Given the description of an element on the screen output the (x, y) to click on. 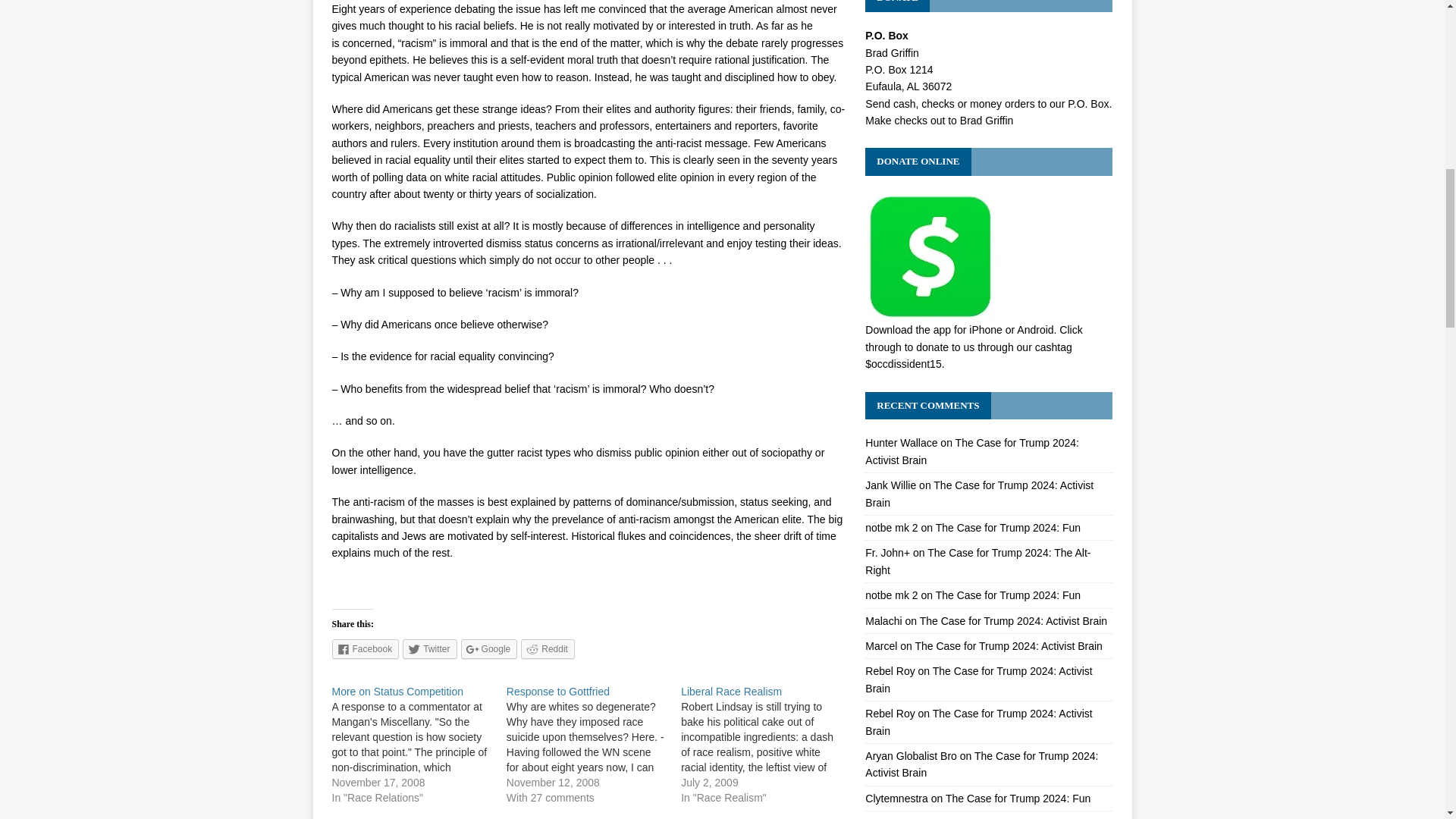
More on Status Competition (397, 691)
Click to share on Reddit (548, 649)
Reddit (548, 649)
Google (489, 649)
Click to share on Facebook (364, 649)
Click to share on Twitter (430, 649)
Facebook (364, 649)
Liberal Race Realism (731, 691)
Response to Gottfried (558, 691)
Twitter (430, 649)
